Given the description of an element on the screen output the (x, y) to click on. 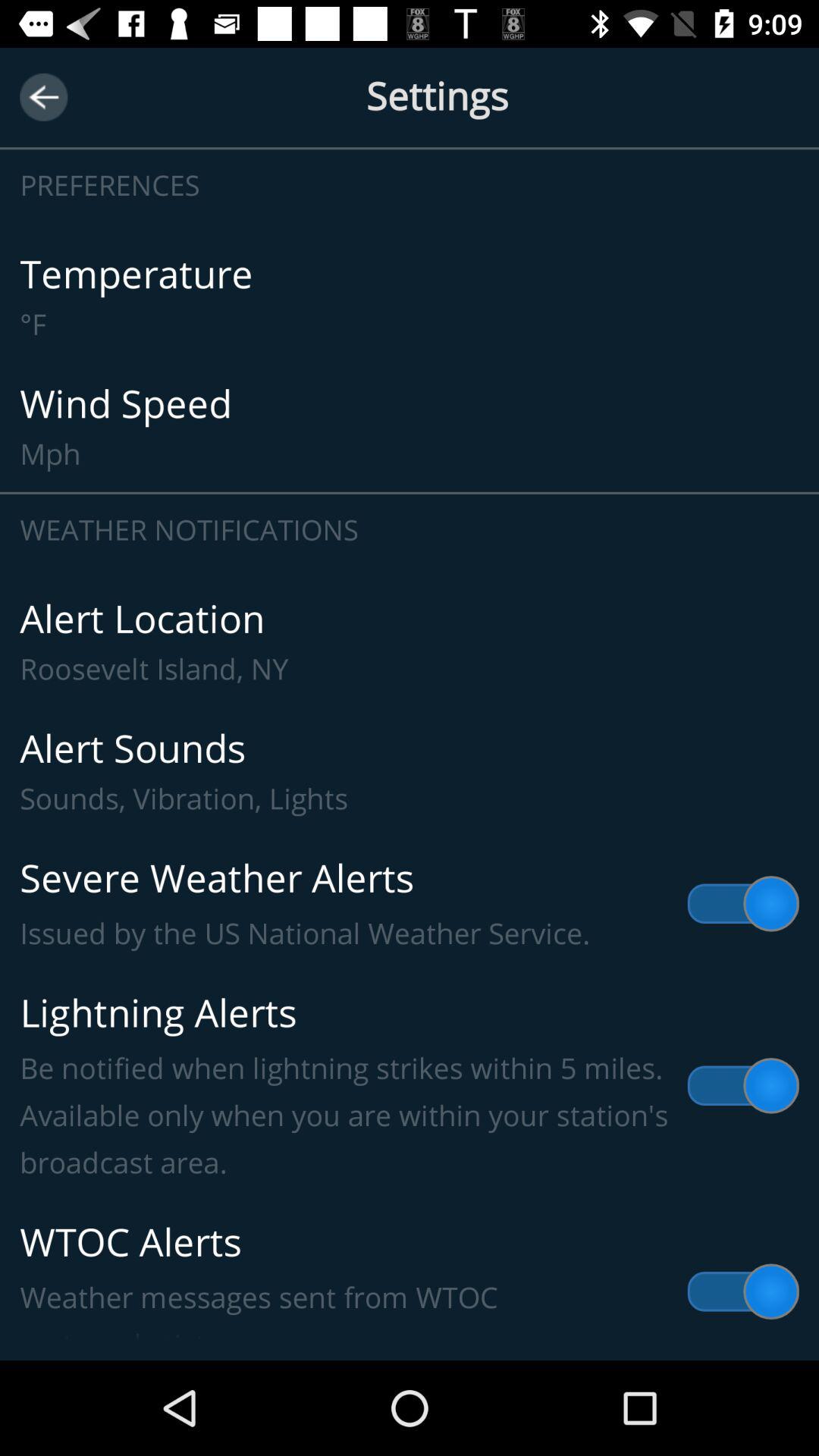
press item to the left of the settings (43, 97)
